Given the description of an element on the screen output the (x, y) to click on. 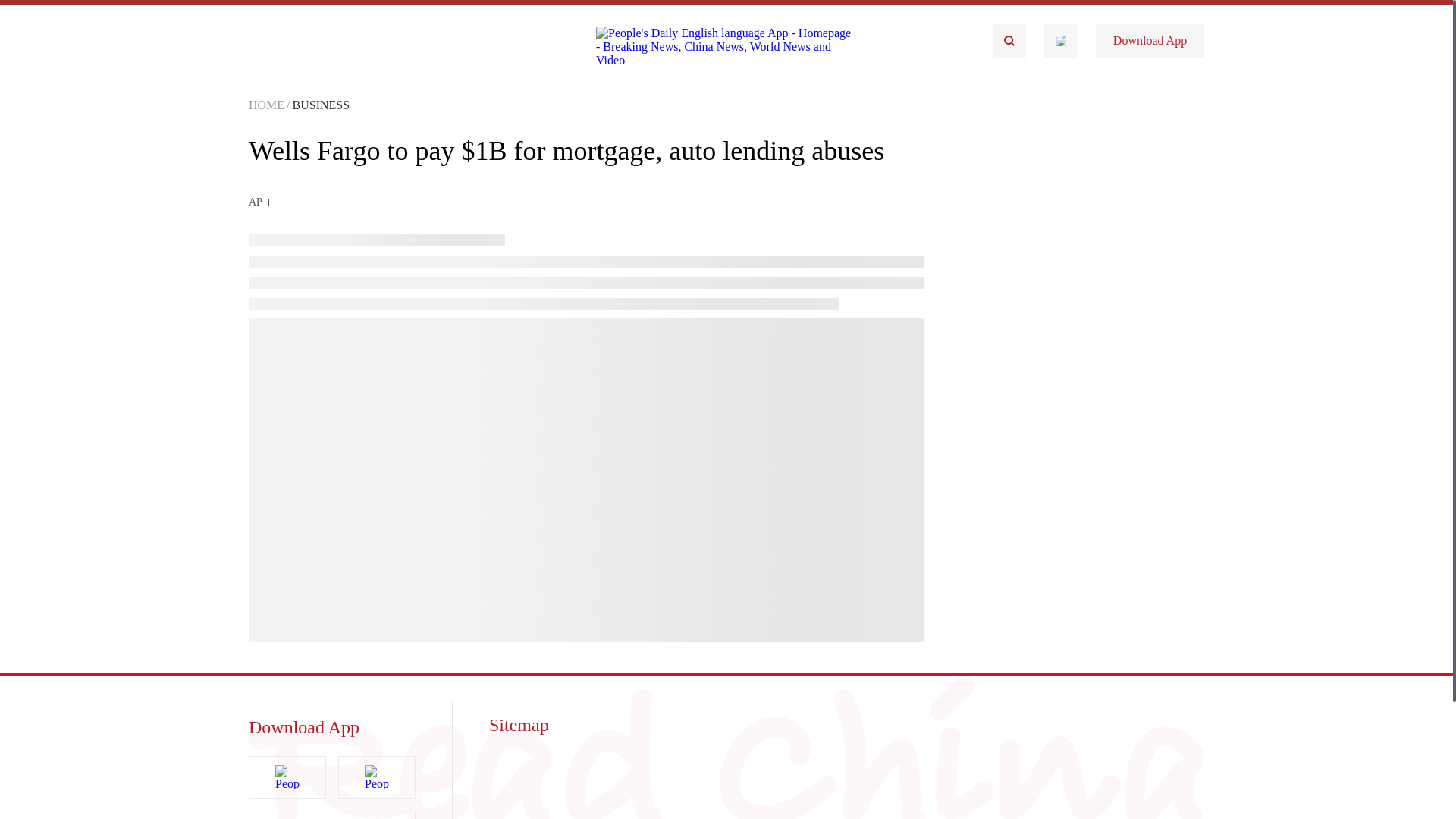
Download App (1150, 40)
Google Play (331, 814)
HOME (265, 105)
